Given the description of an element on the screen output the (x, y) to click on. 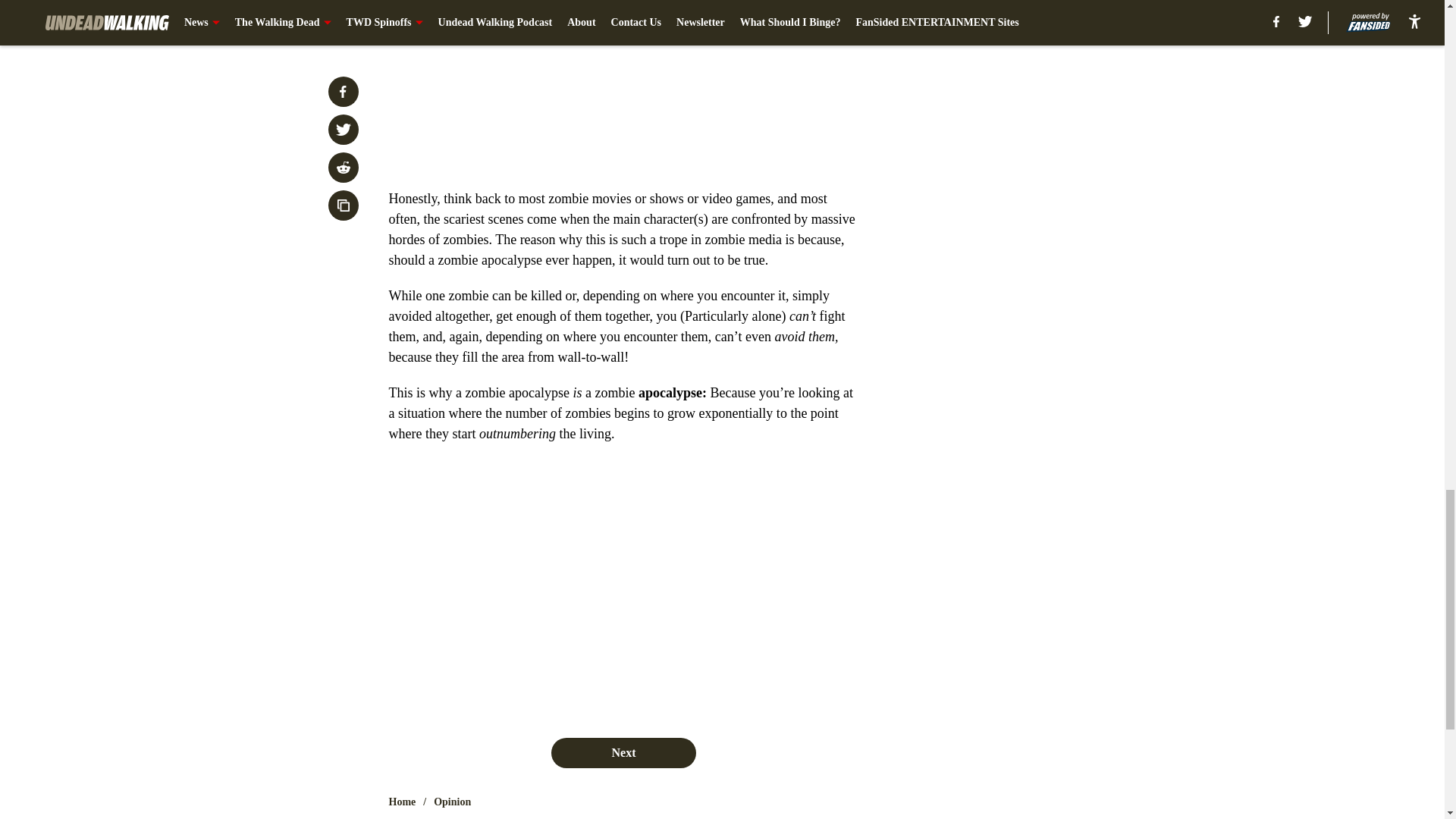
Home (401, 801)
Opinion (451, 801)
Next (622, 752)
